Given the description of an element on the screen output the (x, y) to click on. 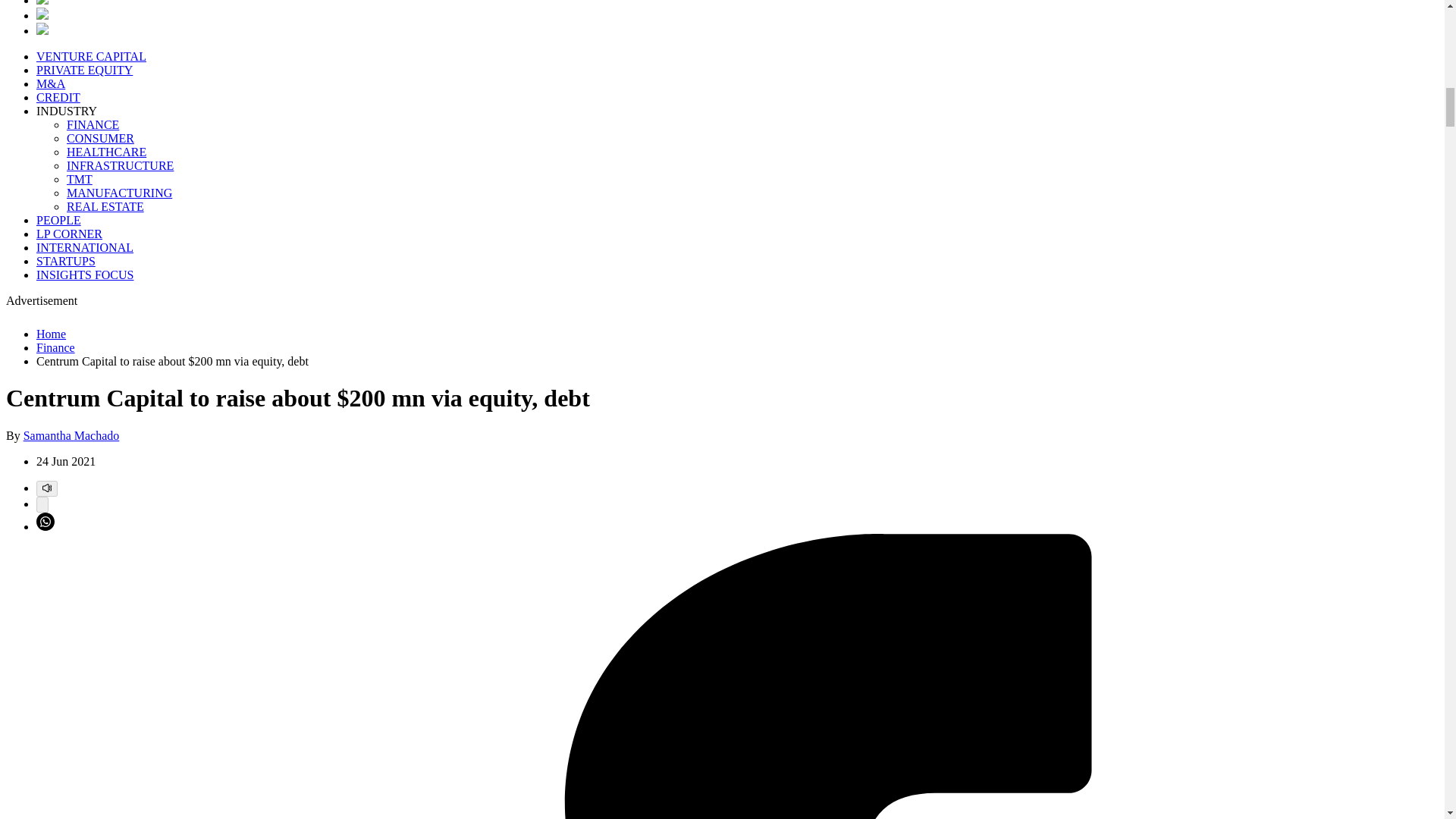
INTERNATIONAL (84, 246)
Samantha Machado (71, 435)
STARTUPS (66, 260)
PRIVATE EQUITY (84, 69)
LP CORNER (68, 233)
VENTURE CAPITAL (91, 56)
FINANCE (92, 124)
PEOPLE (58, 219)
INDUSTRY (66, 110)
Home (50, 333)
